Given the description of an element on the screen output the (x, y) to click on. 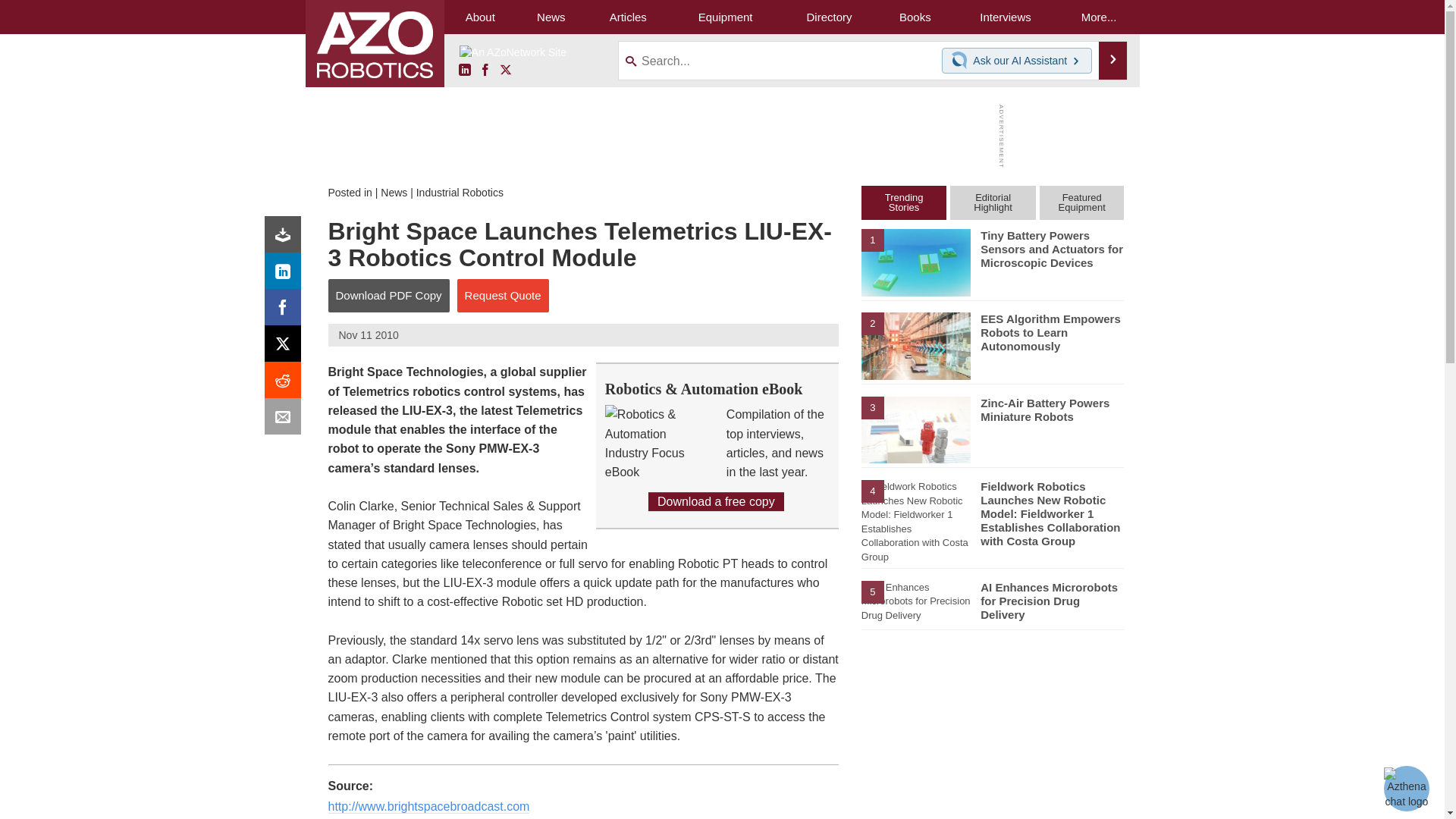
Equipment (724, 17)
News (393, 192)
Download PDF copy (285, 238)
About (480, 17)
Directory (828, 17)
Chat with our AI Assistant Ask our AI Assistant (1017, 60)
Facebook (485, 70)
News (551, 17)
Reddit (285, 384)
LinkedIn (285, 275)
